Given the description of an element on the screen output the (x, y) to click on. 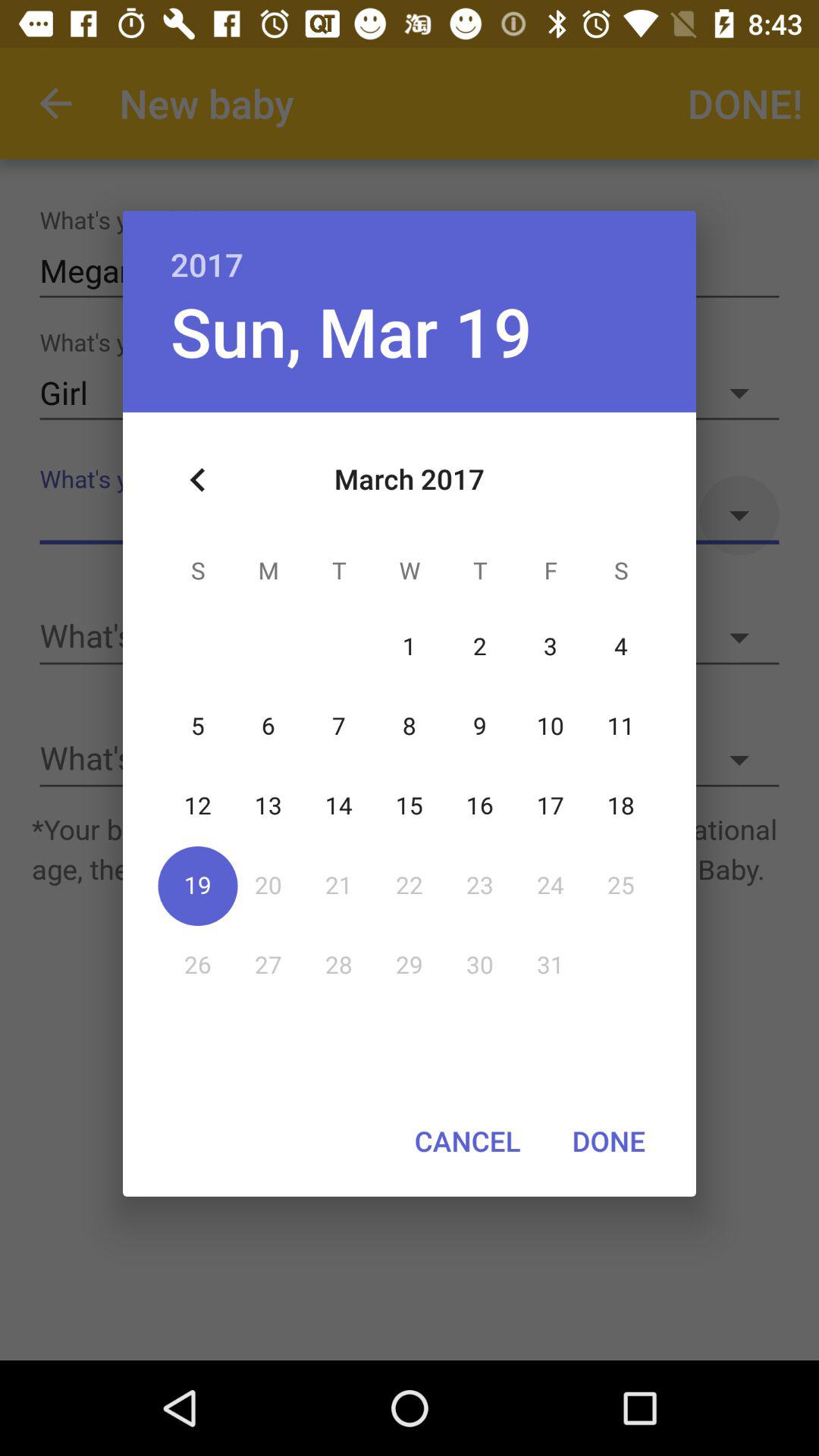
open the icon above sun, mar 19 icon (409, 248)
